Given the description of an element on the screen output the (x, y) to click on. 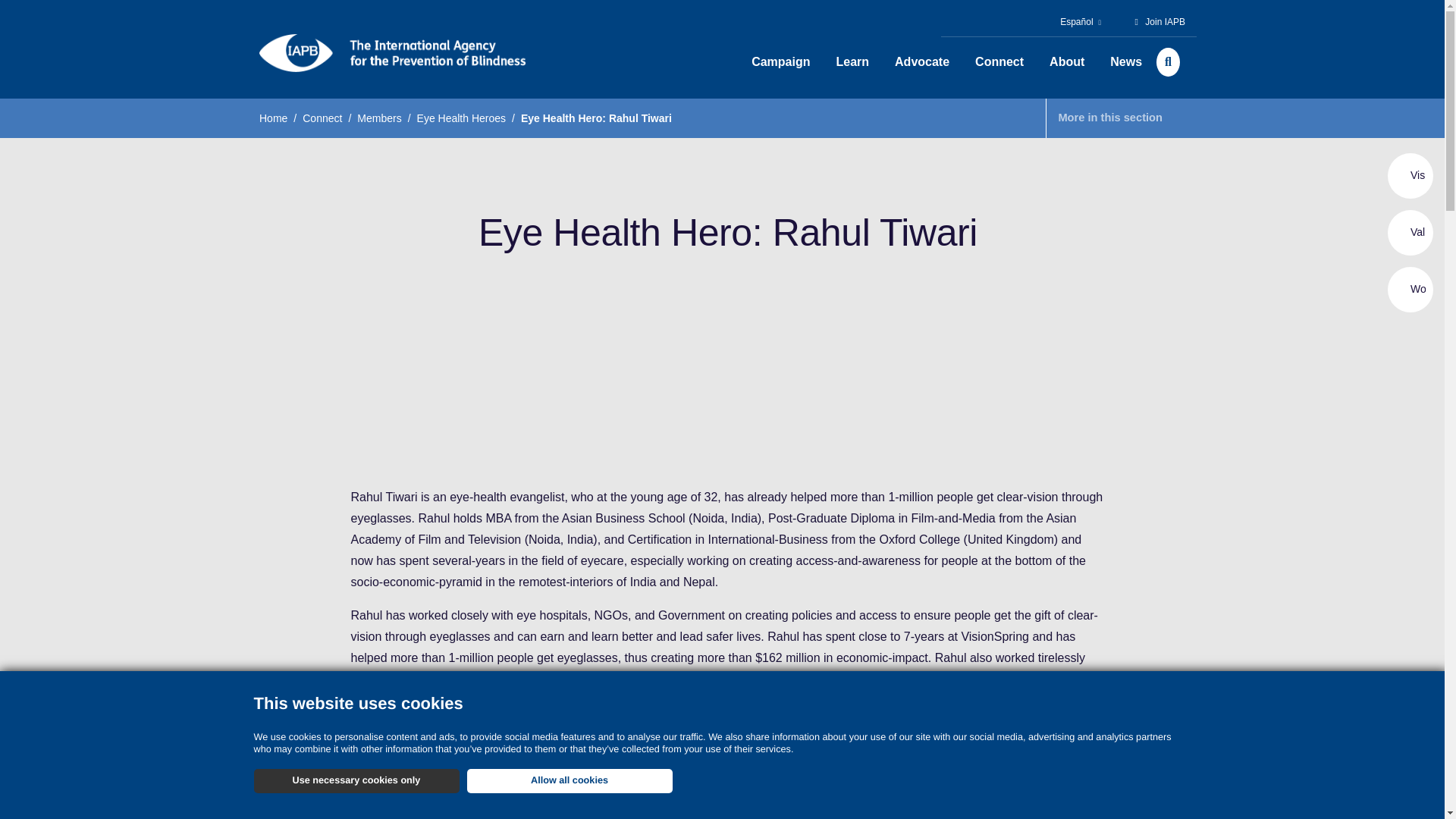
Use necessary cookies only (355, 781)
Allow all cookies (569, 781)
